Given the description of an element on the screen output the (x, y) to click on. 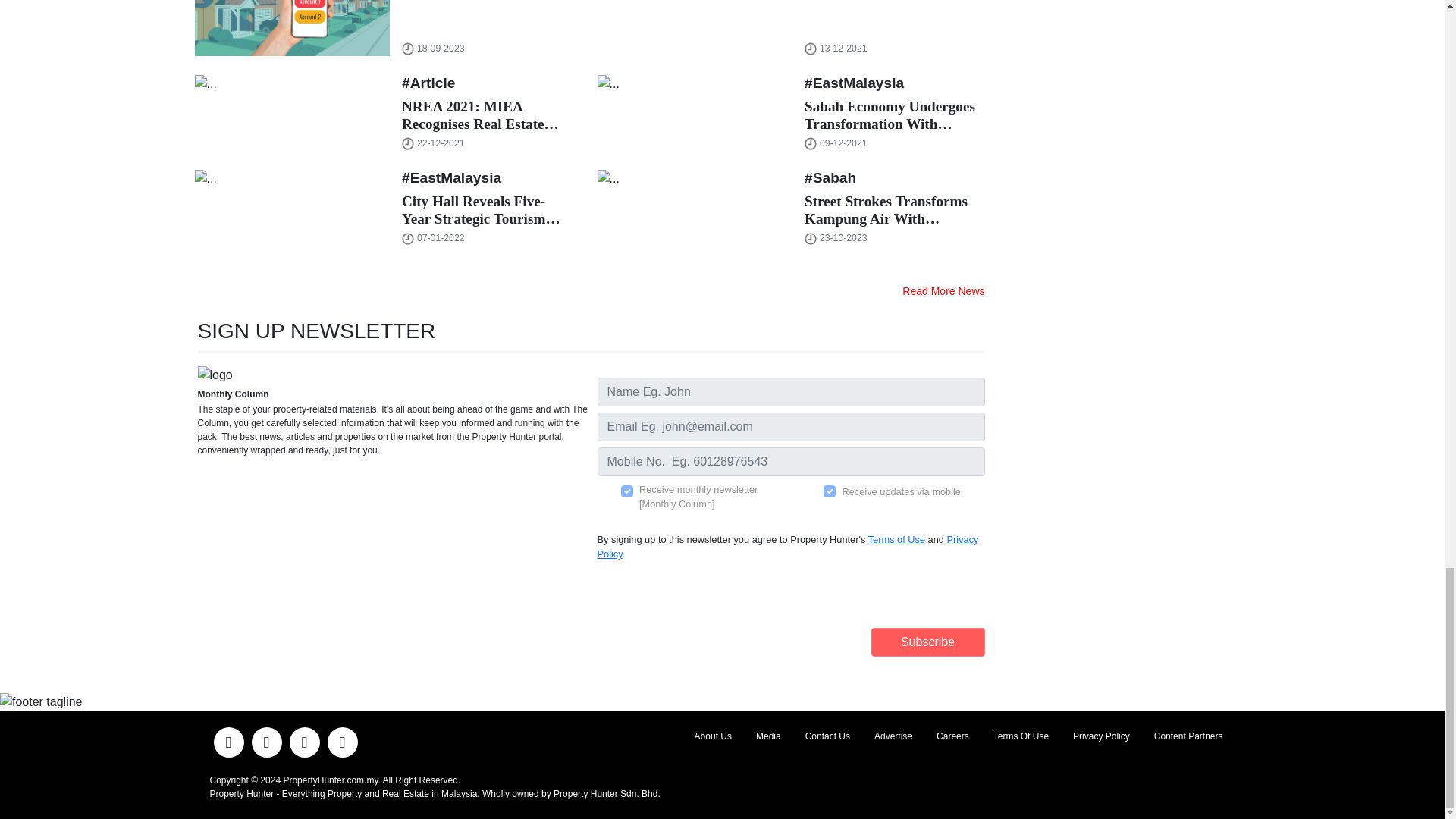
1 (627, 491)
1 (829, 491)
